Given the description of an element on the screen output the (x, y) to click on. 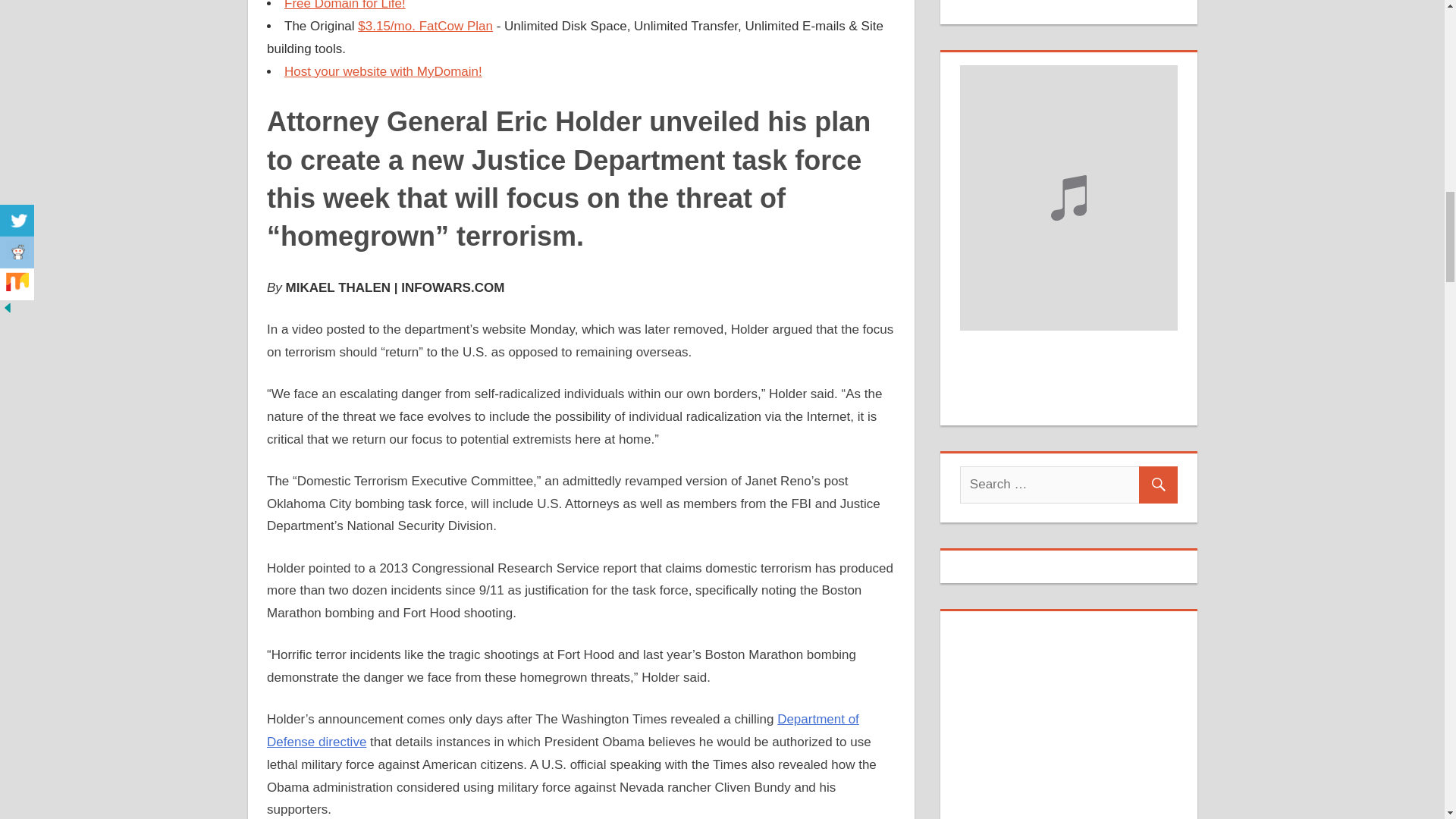
Department of Defense directive (562, 730)
Free Domain for Life! (344, 5)
Search for: (1068, 484)
Host your website with MyDomain! (382, 71)
